Given the description of an element on the screen output the (x, y) to click on. 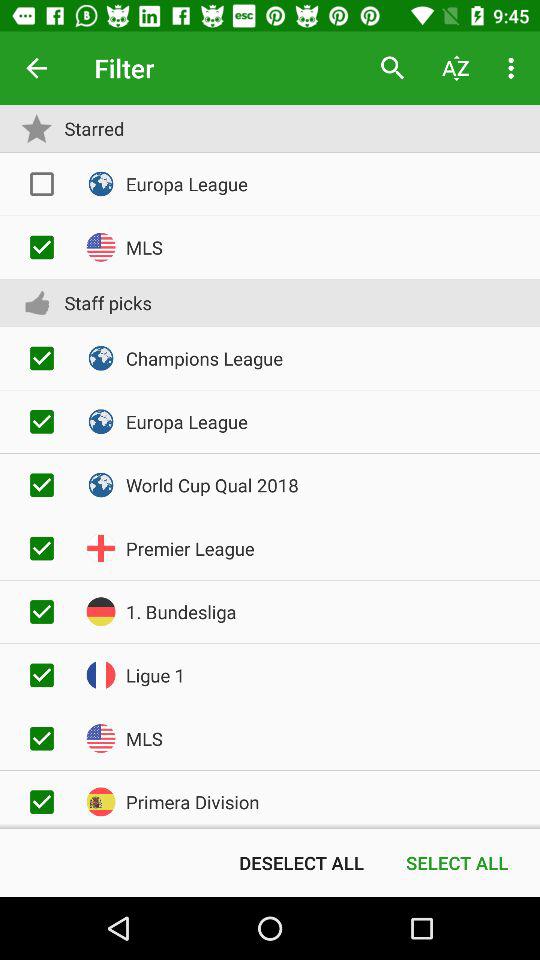
tap the icon to the right of the filter item (392, 68)
